Given the description of an element on the screen output the (x, y) to click on. 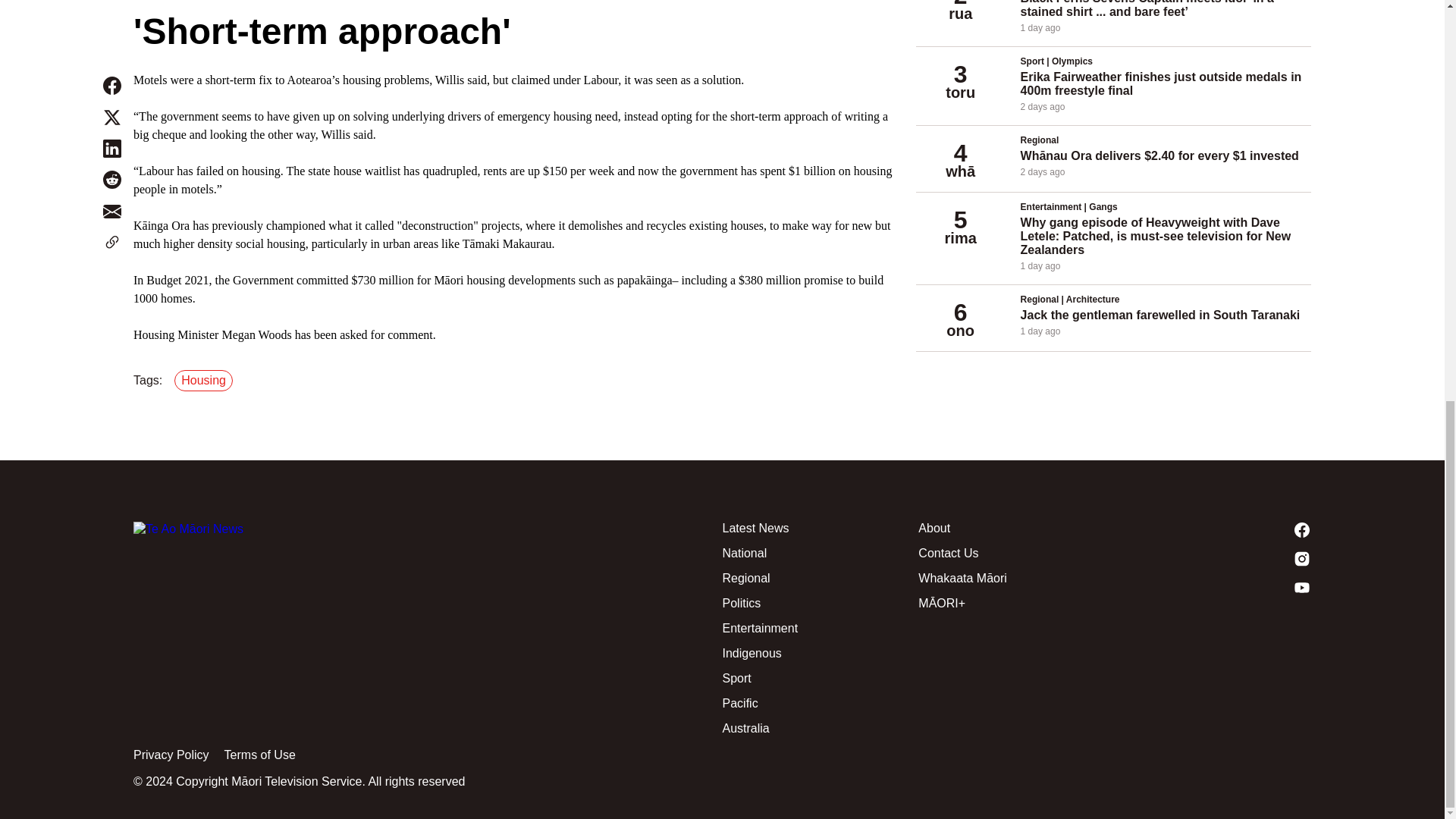
Housing (206, 380)
Facebook (1213, 529)
Youtube (1213, 587)
Instagram (1213, 558)
